Given the description of an element on the screen output the (x, y) to click on. 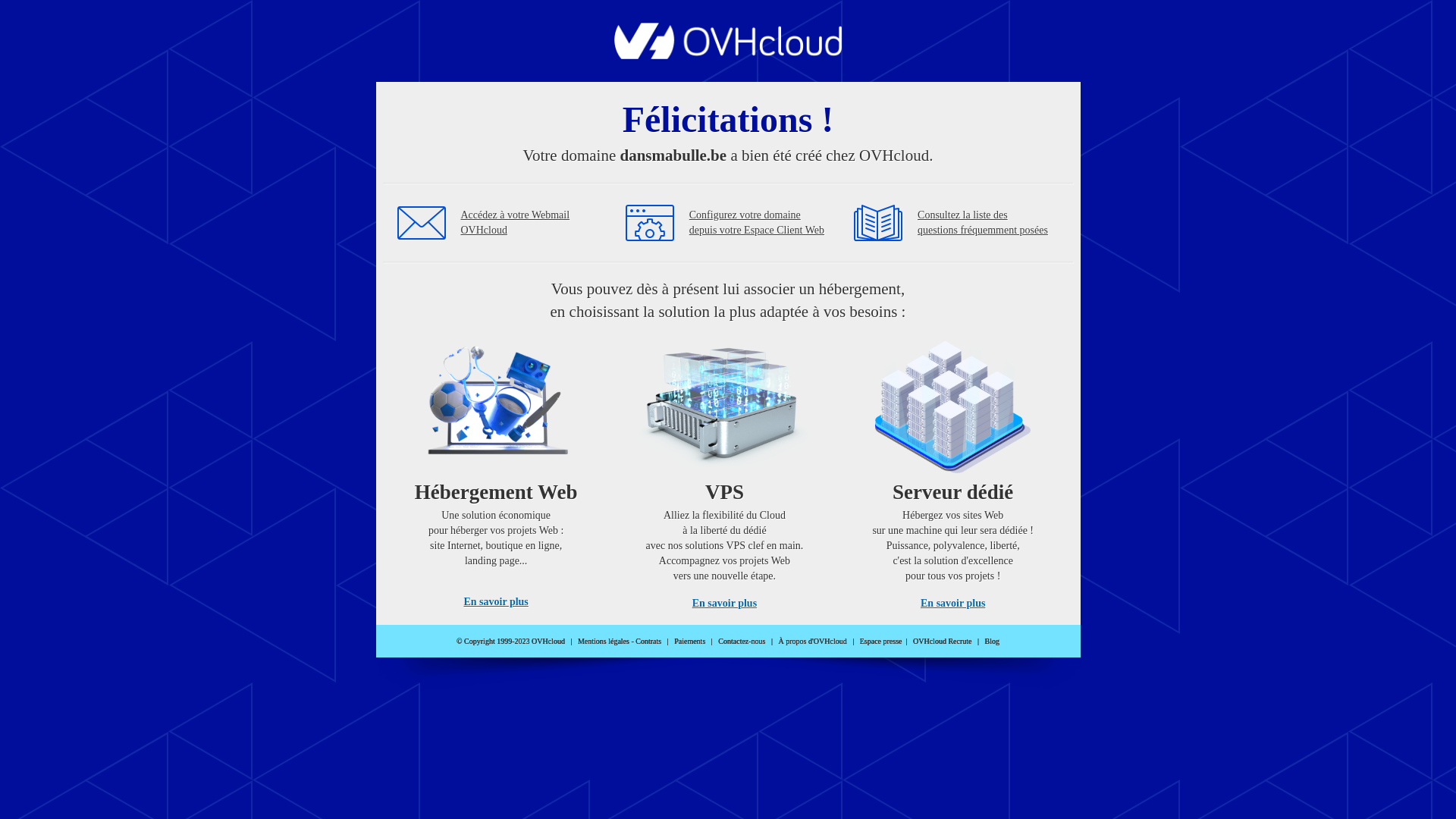
En savoir plus Element type: text (952, 602)
Espace presse Element type: text (880, 641)
OVHcloud Recrute Element type: text (942, 641)
Configurez votre domaine
depuis votre Espace Client Web Element type: text (756, 222)
Paiements Element type: text (689, 641)
VPS Element type: hover (724, 469)
Blog Element type: text (992, 641)
Contactez-nous Element type: text (741, 641)
En savoir plus Element type: text (495, 601)
En savoir plus Element type: text (724, 602)
OVHcloud Element type: hover (727, 54)
